Given the description of an element on the screen output the (x, y) to click on. 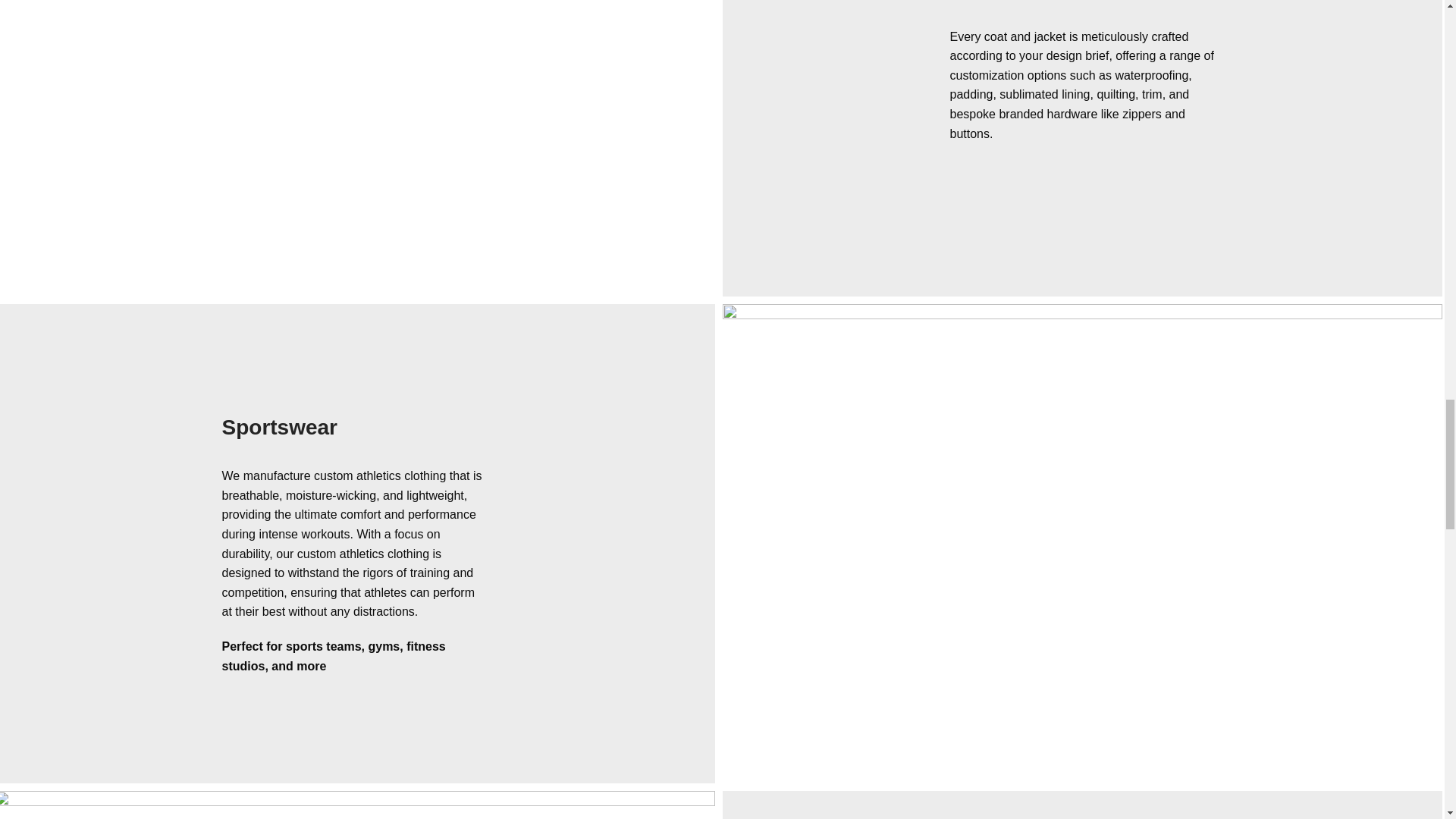
6 (357, 805)
